Given the description of an element on the screen output the (x, y) to click on. 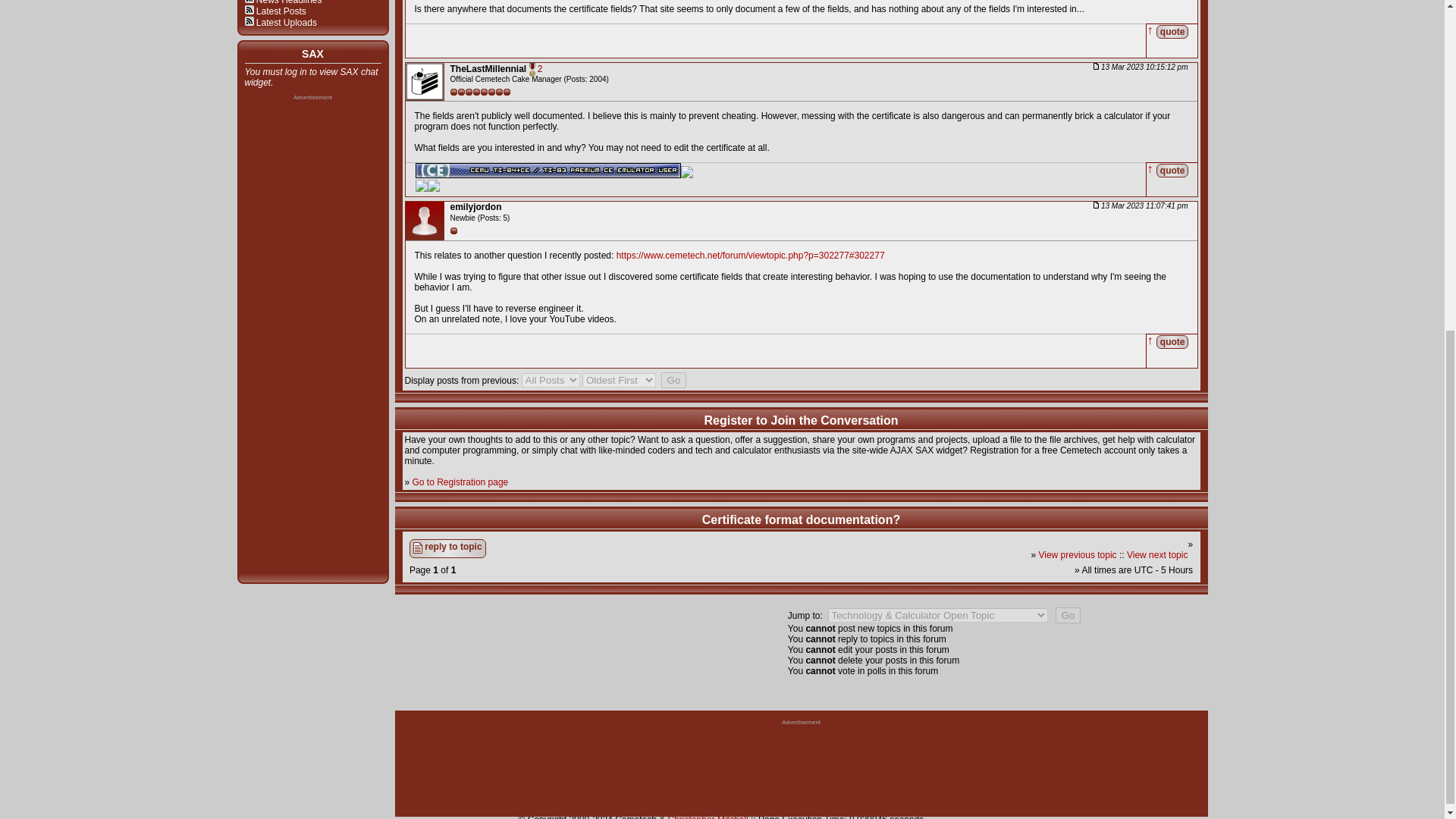
Go (1068, 615)
Go (674, 380)
quote (1172, 30)
